Given the description of an element on the screen output the (x, y) to click on. 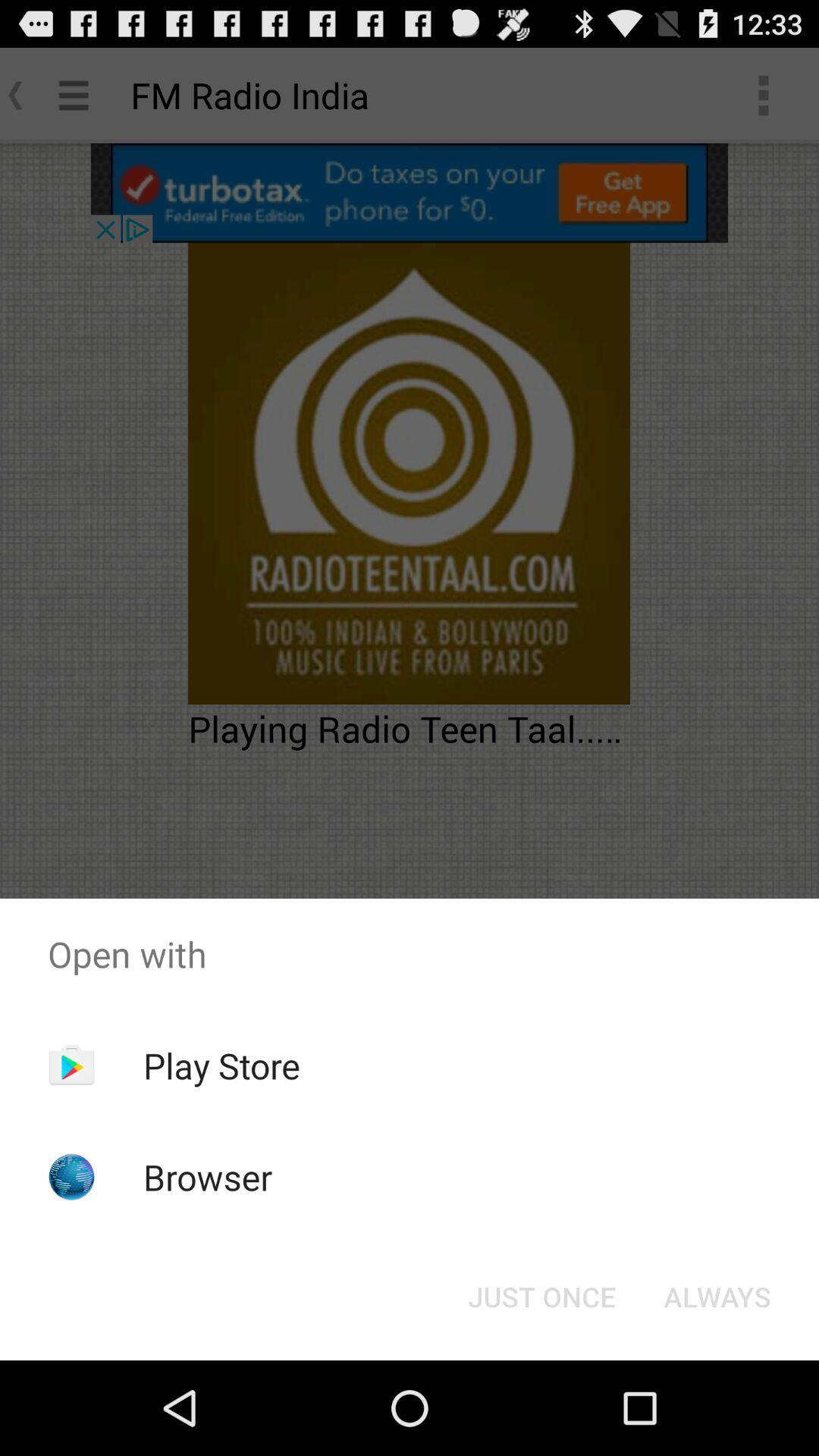
open the play store icon (221, 1065)
